Given the description of an element on the screen output the (x, y) to click on. 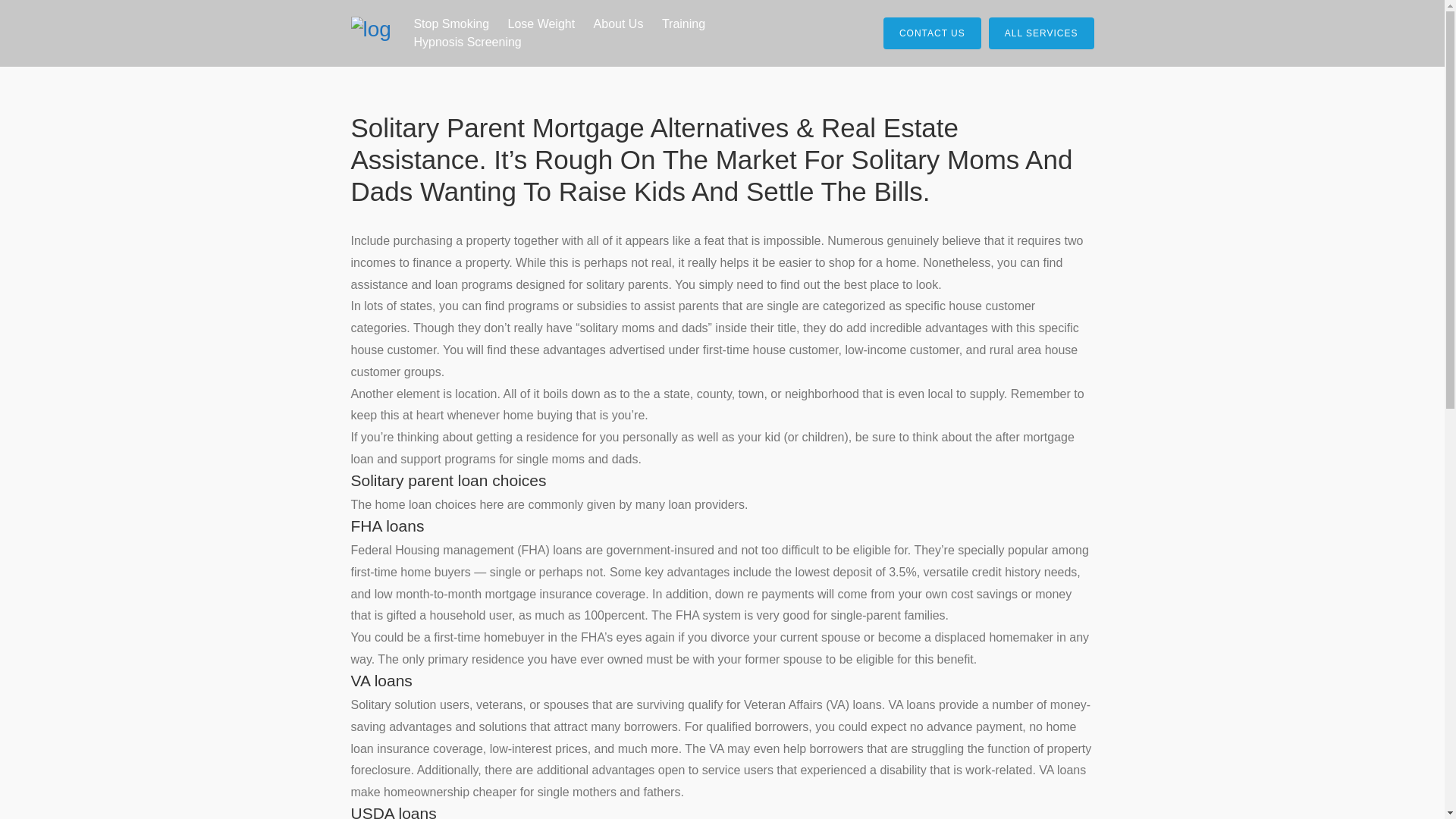
Hypnosis Screening (467, 42)
Stop Smoking (451, 24)
ALL SERVICES (1041, 33)
Lose Weight (541, 24)
CONTACT US (932, 33)
About Us (618, 24)
Training (683, 24)
